Given the description of an element on the screen output the (x, y) to click on. 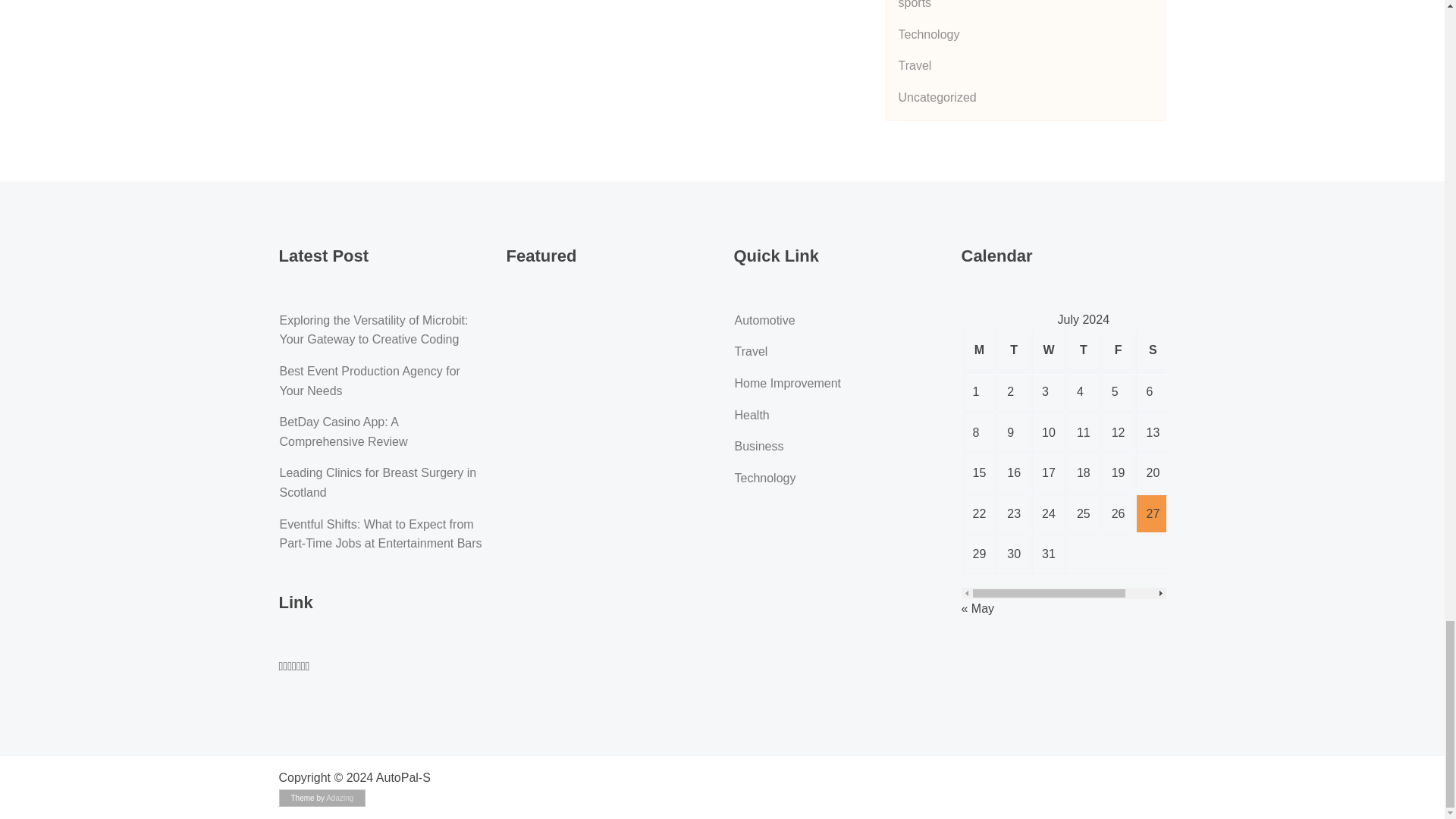
Monday (978, 350)
Tuesday (1013, 350)
Saturday (1152, 350)
Wednesday (1048, 350)
Thursday (1083, 350)
Sunday (1187, 350)
Friday (1118, 350)
